Given the description of an element on the screen output the (x, y) to click on. 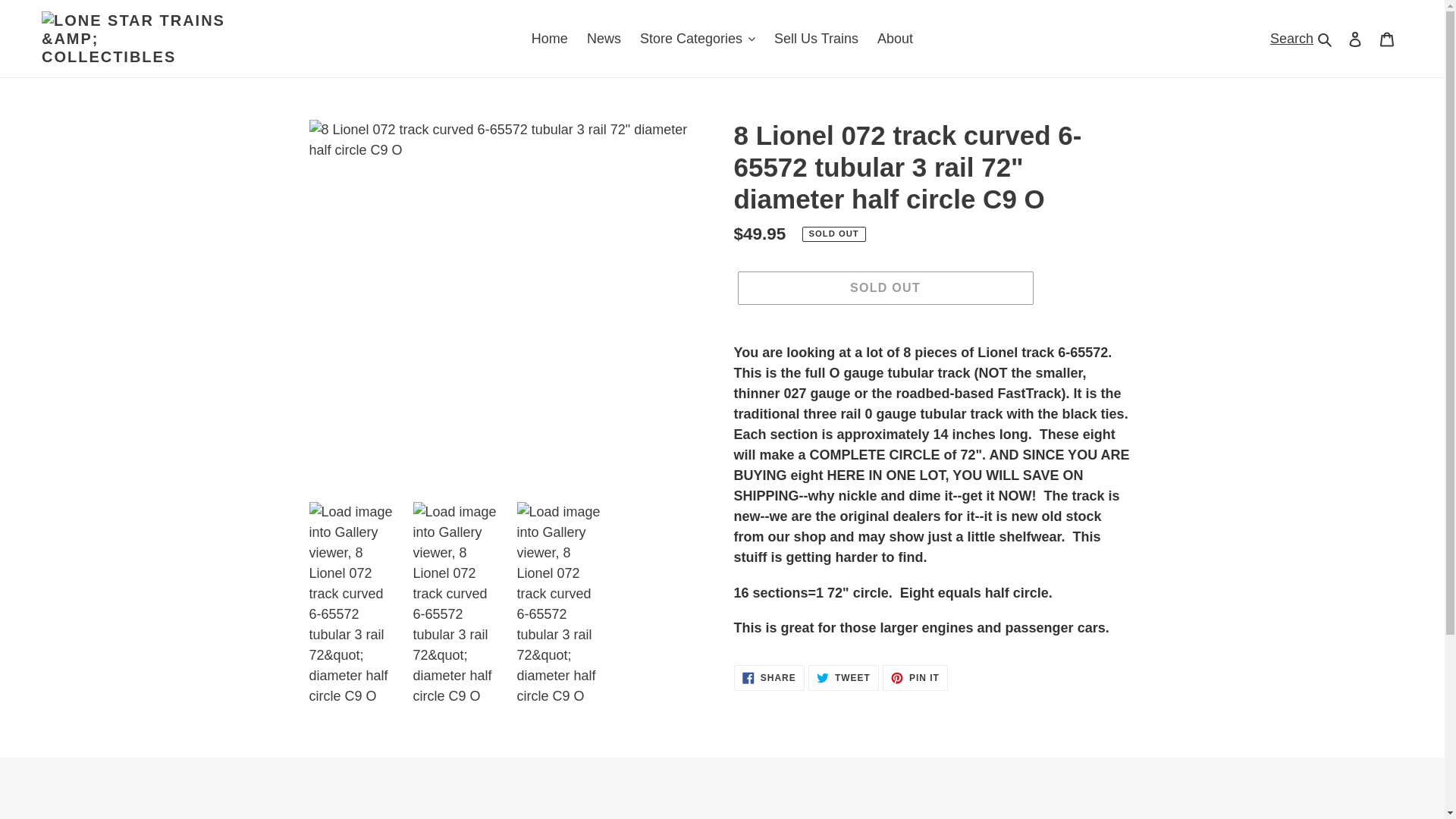
Search (1302, 38)
Sell Us Trains (816, 37)
Cart (1387, 38)
Store Categories (696, 37)
About (894, 37)
Home (549, 37)
Log in (1355, 38)
News (603, 37)
Search (1291, 37)
